Given the description of an element on the screen output the (x, y) to click on. 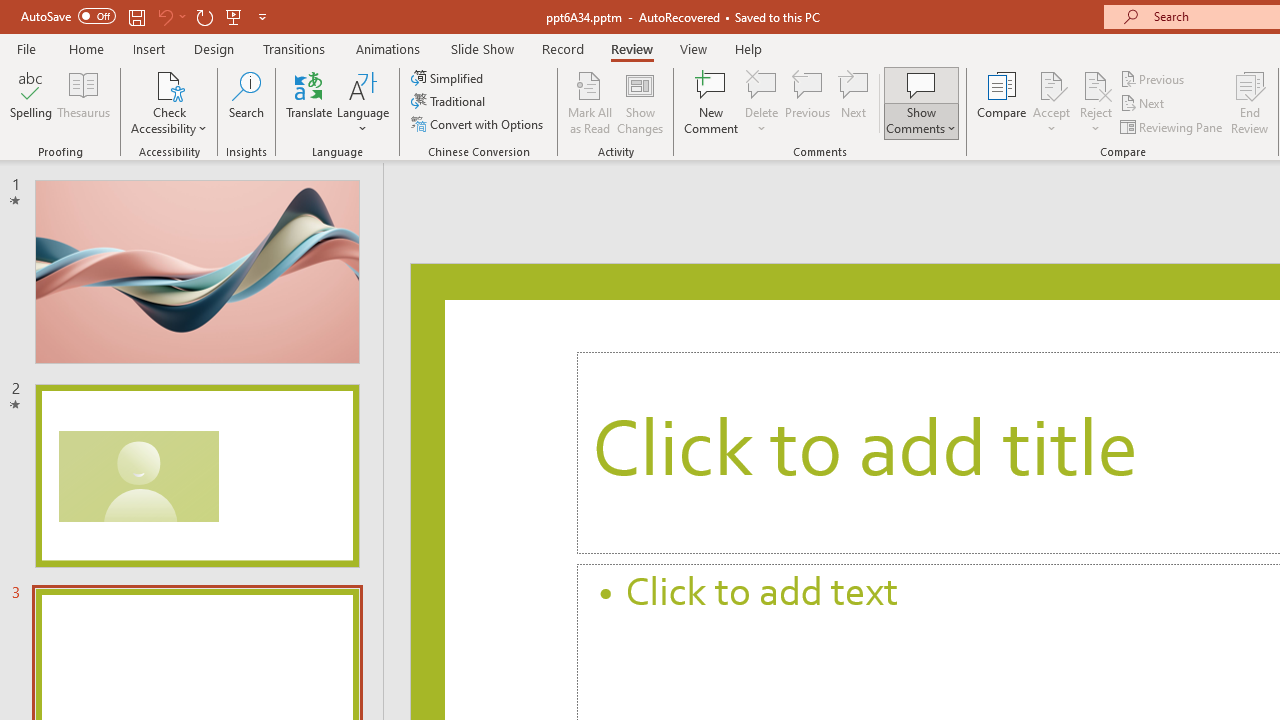
Next (1144, 103)
Language (363, 102)
Mark All as Read (589, 102)
Accept Change (1051, 84)
Convert with Options... (479, 124)
Show Comments (921, 102)
Traditional (449, 101)
Search (246, 102)
